Given the description of an element on the screen output the (x, y) to click on. 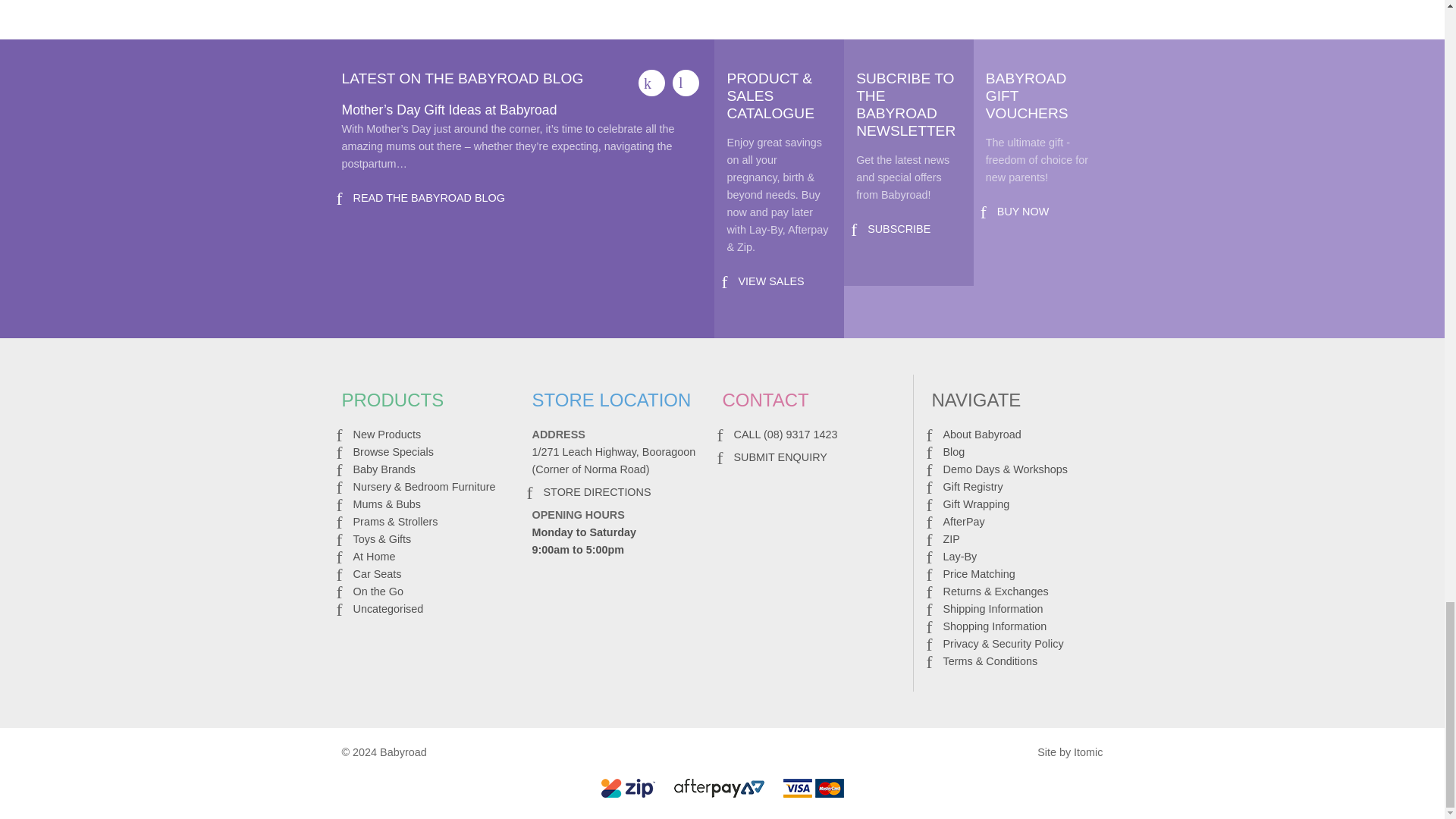
Babyroad on Facebook (652, 82)
Babyroad on Instagram (685, 82)
